Given the description of an element on the screen output the (x, y) to click on. 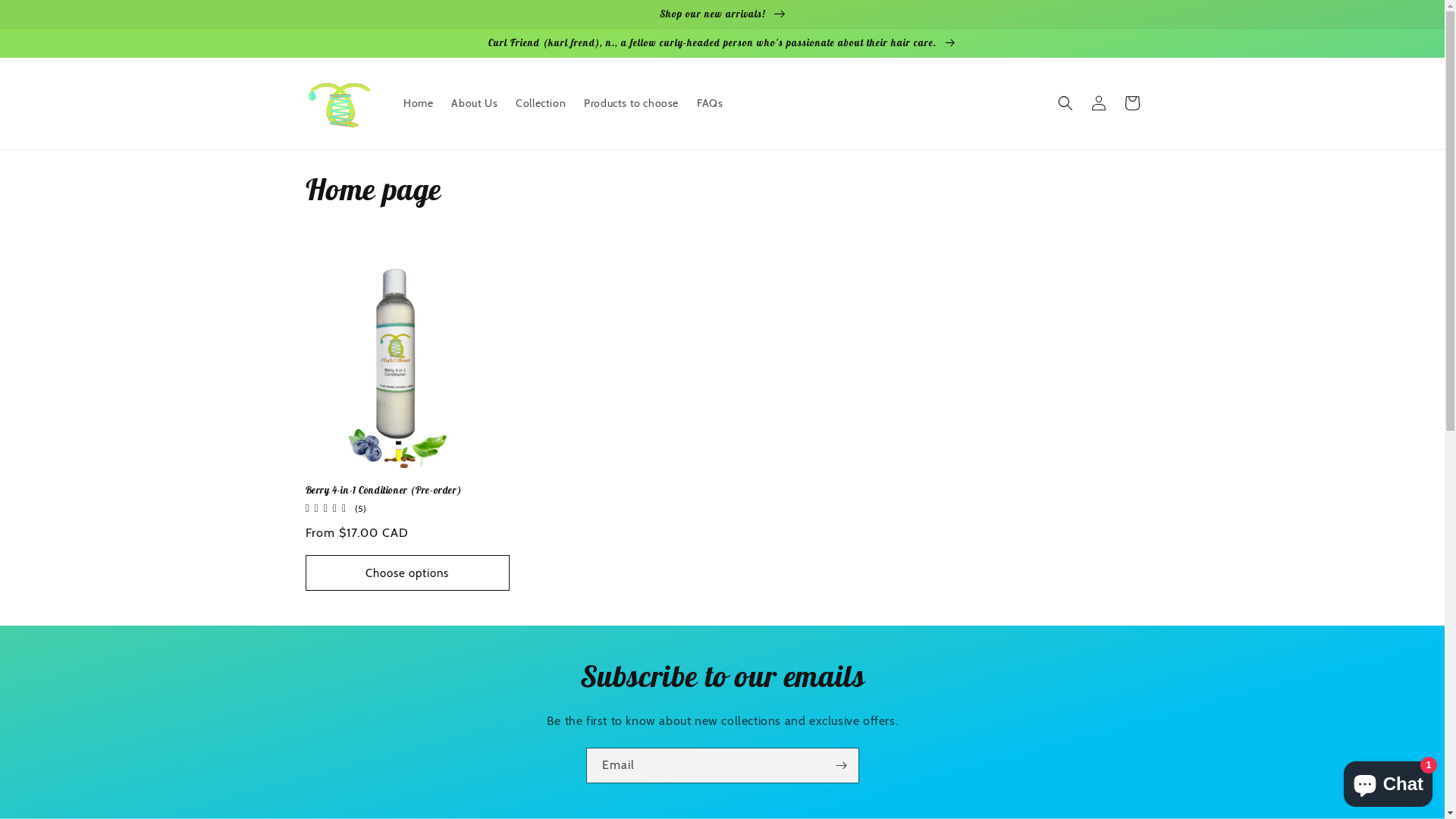
Choose options Element type: text (406, 572)
About Us Element type: text (474, 103)
Cart Element type: text (1131, 102)
Shopify online store chat Element type: hover (1388, 780)
Collection Element type: text (540, 103)
Berry 4-in-1 Conditioner (Pre-order) Element type: text (406, 489)
FAQs Element type: text (709, 103)
Home Element type: text (418, 103)
Products to choose Element type: text (630, 103)
Log in Element type: text (1097, 102)
Shop our new arrivals! Element type: text (722, 14)
